Given the description of an element on the screen output the (x, y) to click on. 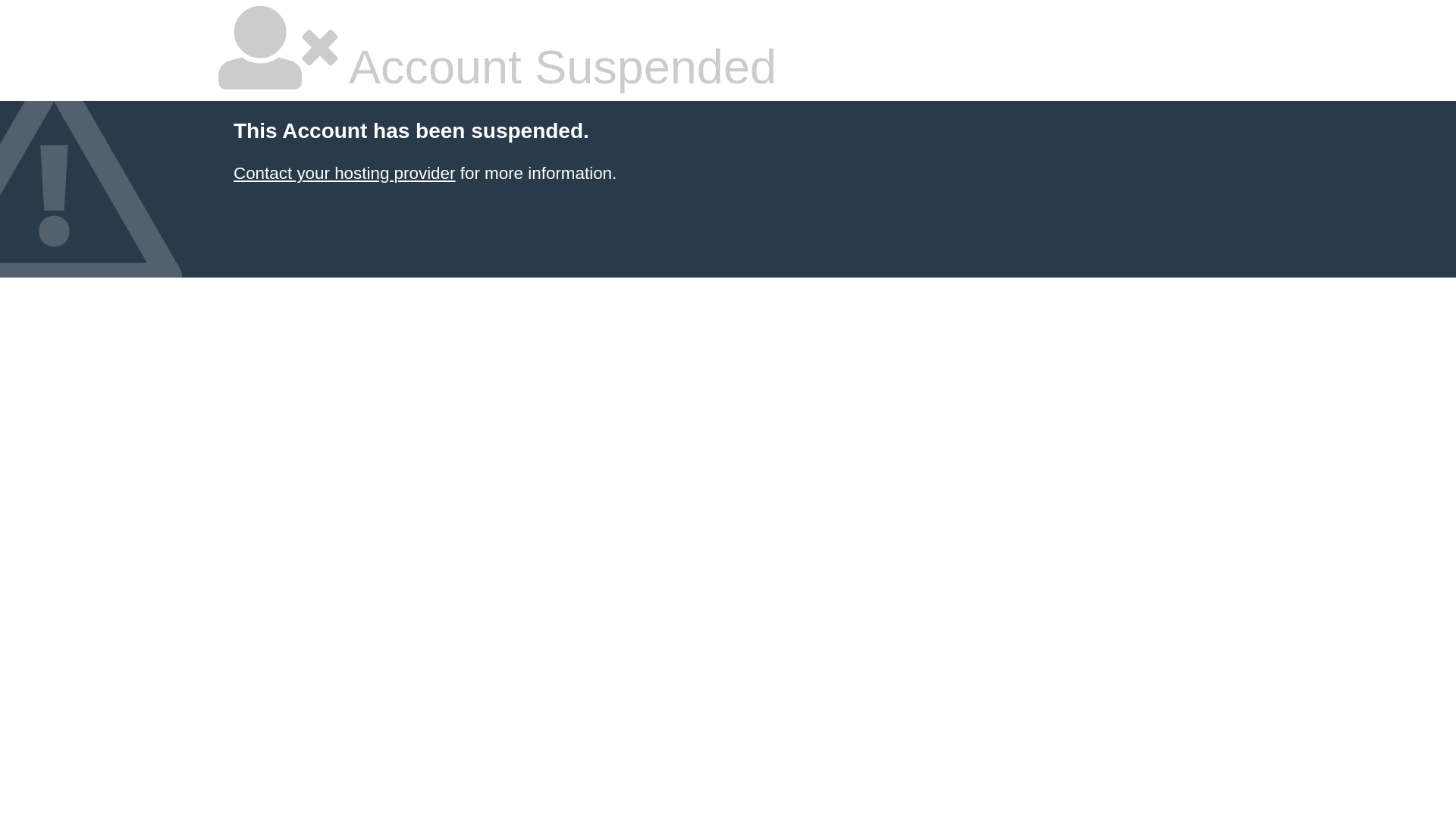
Contact your hosting provider Element type: text (344, 172)
